Given the description of an element on the screen output the (x, y) to click on. 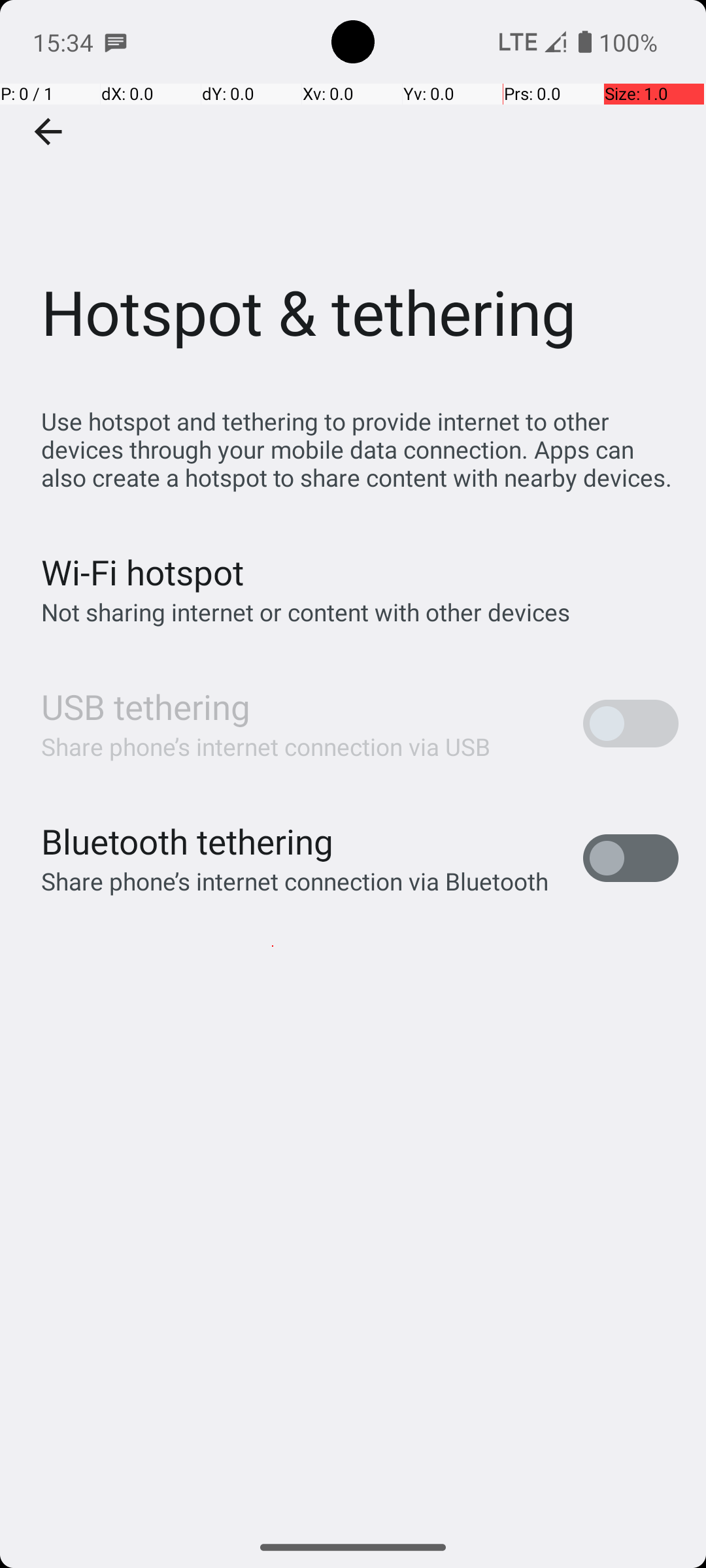
Use hotspot and tethering to provide internet to other devices through your mobile data connection. Apps can also create a hotspot to share content with nearby devices. Element type: android.widget.TextView (359, 448)
Wi‑Fi hotspot Element type: android.widget.TextView (142, 571)
Not sharing internet or content with other devices Element type: android.widget.TextView (305, 611)
USB tethering Element type: android.widget.TextView (145, 706)
Share phone’s internet connection via USB Element type: android.widget.TextView (265, 746)
Bluetooth tethering Element type: android.widget.TextView (187, 840)
Share phone’s internet connection via Bluetooth Element type: android.widget.TextView (294, 880)
